Given the description of an element on the screen output the (x, y) to click on. 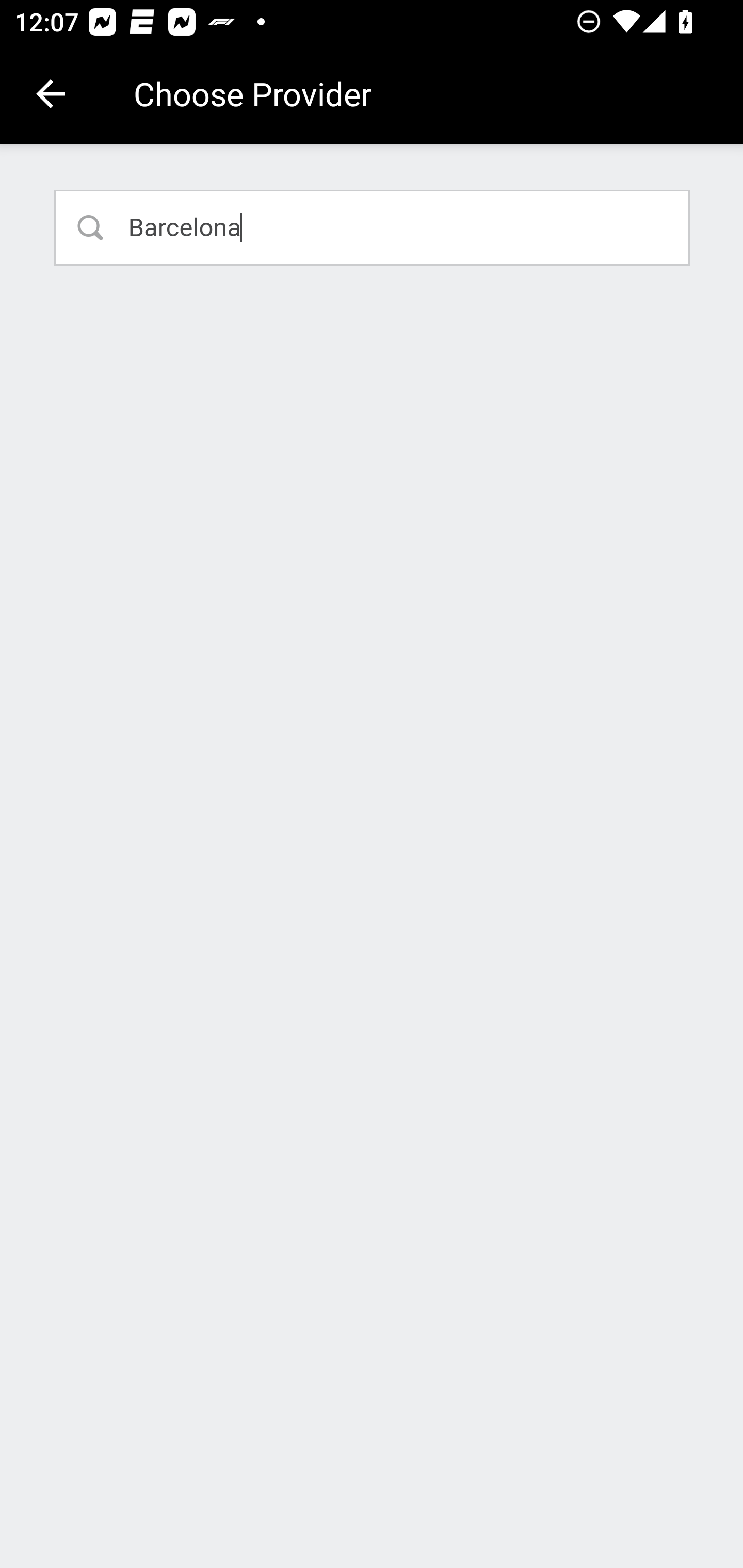
Navigate up (50, 93)
Barcelona (372, 227)
